Given the description of an element on the screen output the (x, y) to click on. 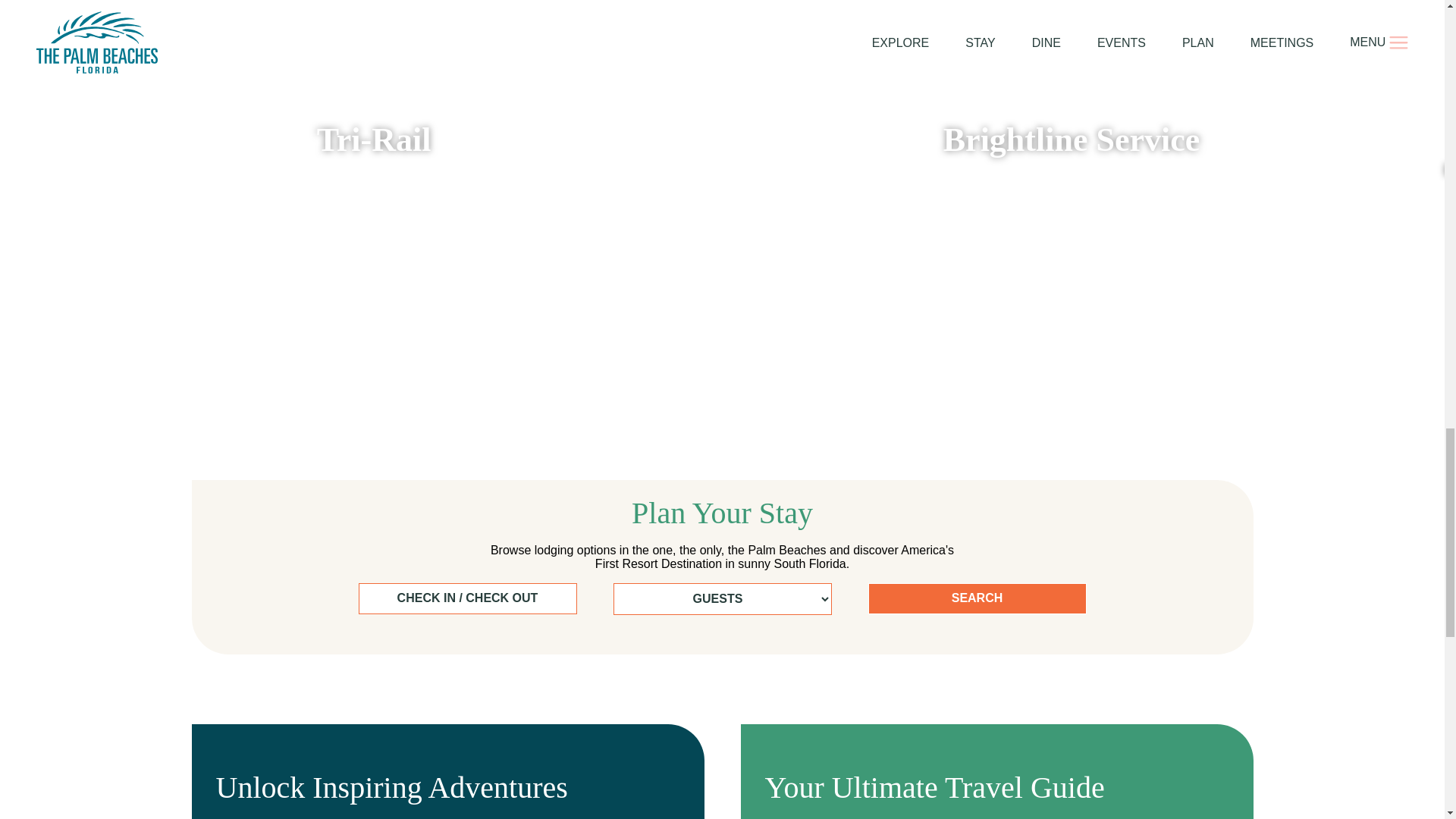
How to Get Here (373, 143)
How to Get Here (1071, 3)
How to Get Here (722, 3)
How to Get Here (373, 3)
How to Get Here (722, 143)
